Given the description of an element on the screen output the (x, y) to click on. 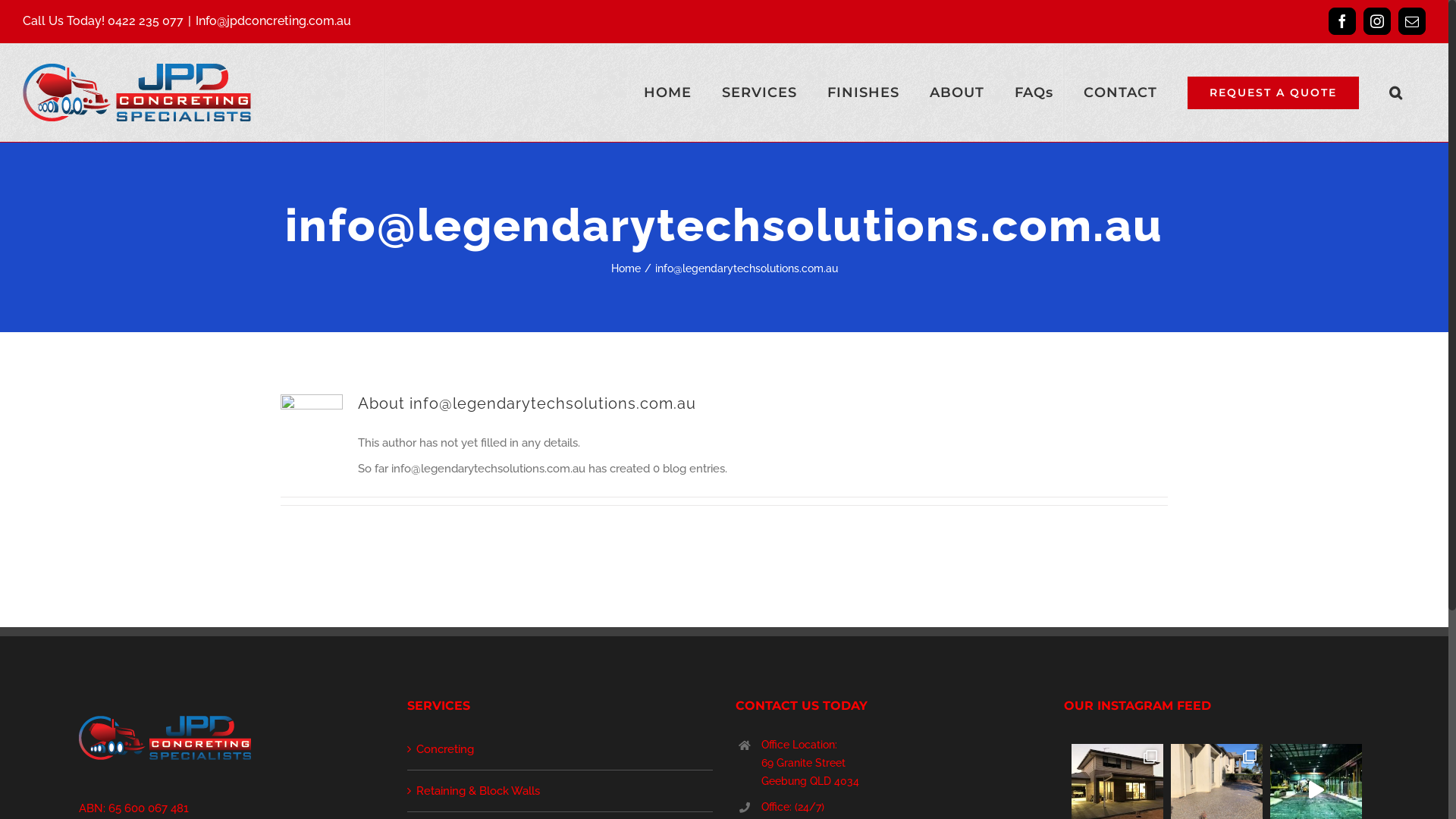
SERVICES Element type: text (759, 92)
Retaining & Block Walls Element type: text (560, 790)
CONTACT Element type: text (1120, 92)
Search Element type: hover (1395, 92)
REQUEST A QUOTE Element type: text (1272, 92)
Search Element type: text (39, 11)
Concreting Element type: text (560, 749)
Home Element type: text (625, 268)
Facebook Element type: text (1341, 20)
Instagram Element type: text (1376, 20)
Email Element type: text (1411, 20)
Info@jpdconcreting.com.au Element type: text (273, 20)
FAQs Element type: text (1033, 92)
ABOUT Element type: text (956, 92)
HOME Element type: text (667, 92)
FINISHES Element type: text (862, 92)
